Given the description of an element on the screen output the (x, y) to click on. 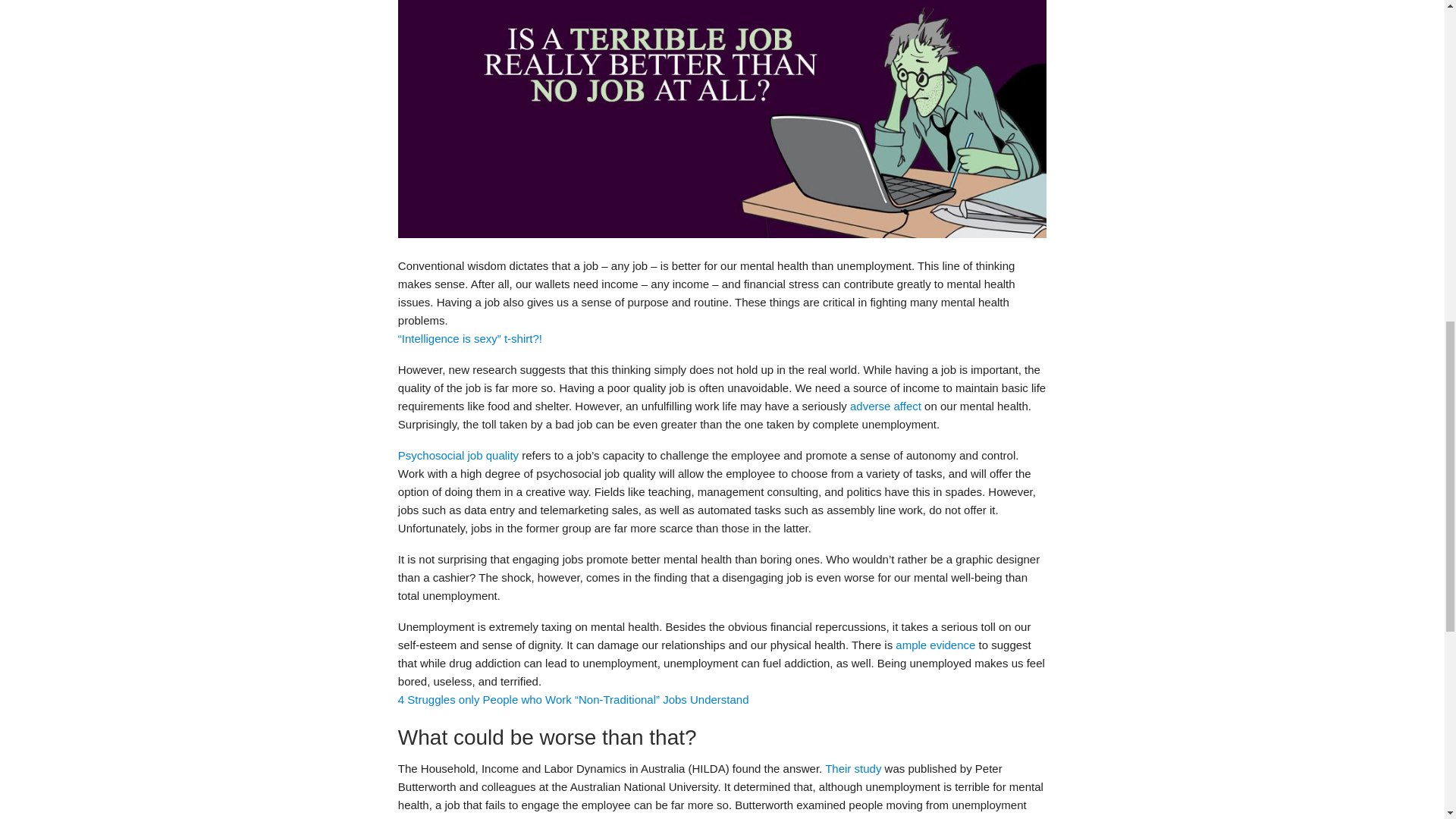
Psychosocial job quality (457, 454)
adverse affect (885, 405)
ample evidence (935, 644)
Their study (852, 768)
